Given the description of an element on the screen output the (x, y) to click on. 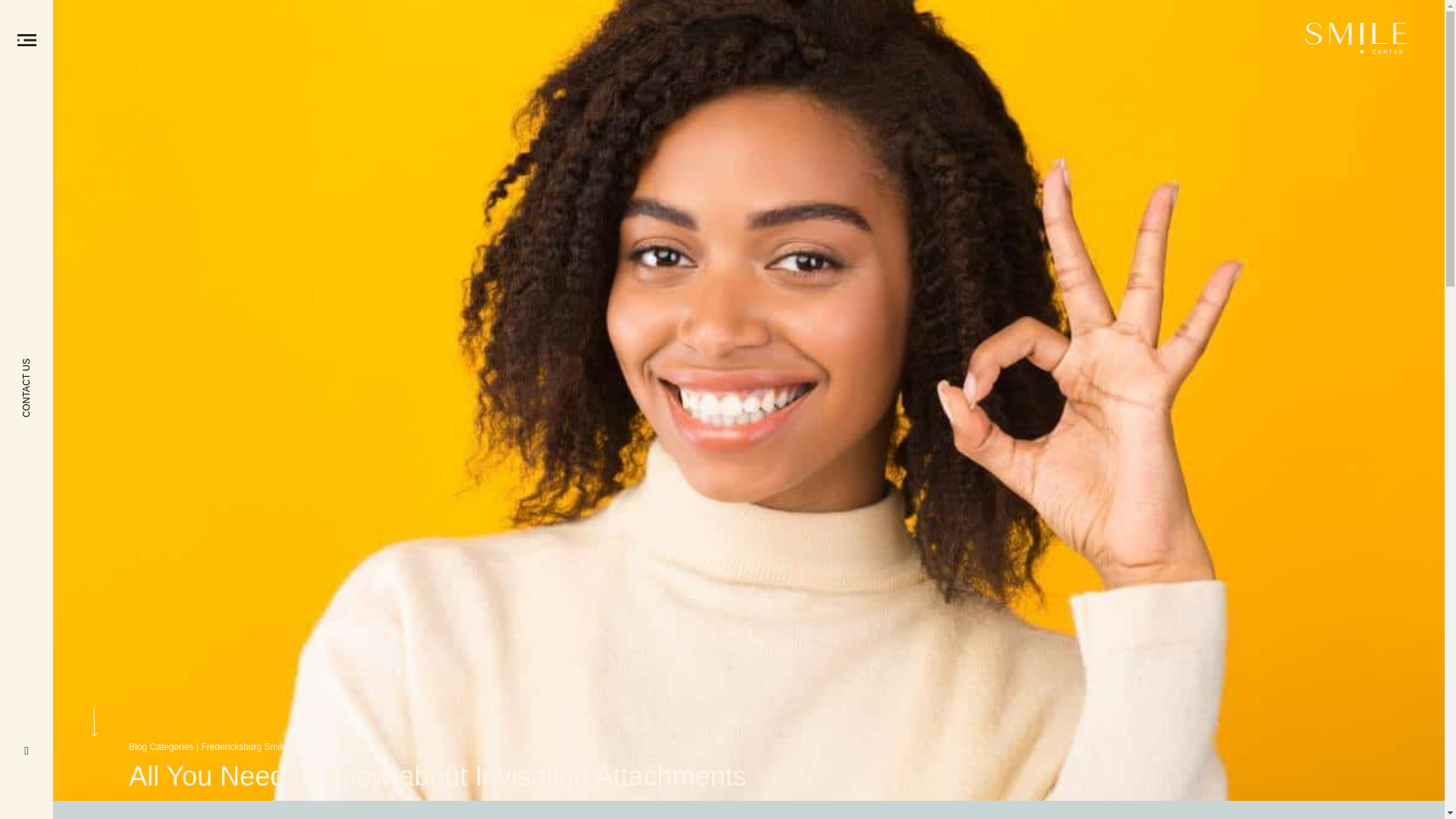
CONTACT US (91, 320)
INVISALIGN (346, 747)
